Given the description of an element on the screen output the (x, y) to click on. 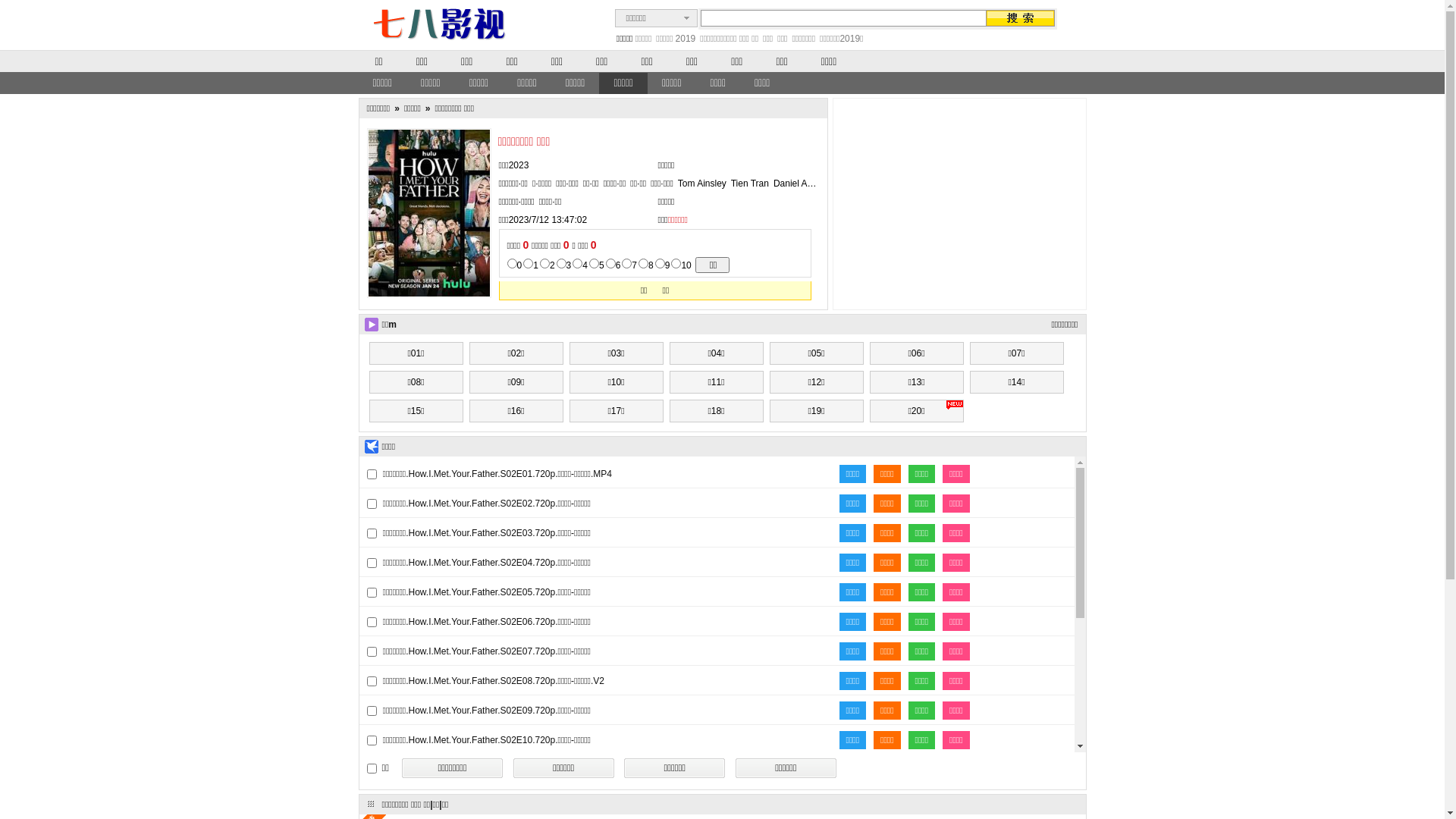
Tom Ainsley Element type: text (701, 183)
2023 Element type: text (518, 165)
Daniel Augustin Element type: text (804, 183)
Tien Tran Element type: text (749, 183)
